Given the description of an element on the screen output the (x, y) to click on. 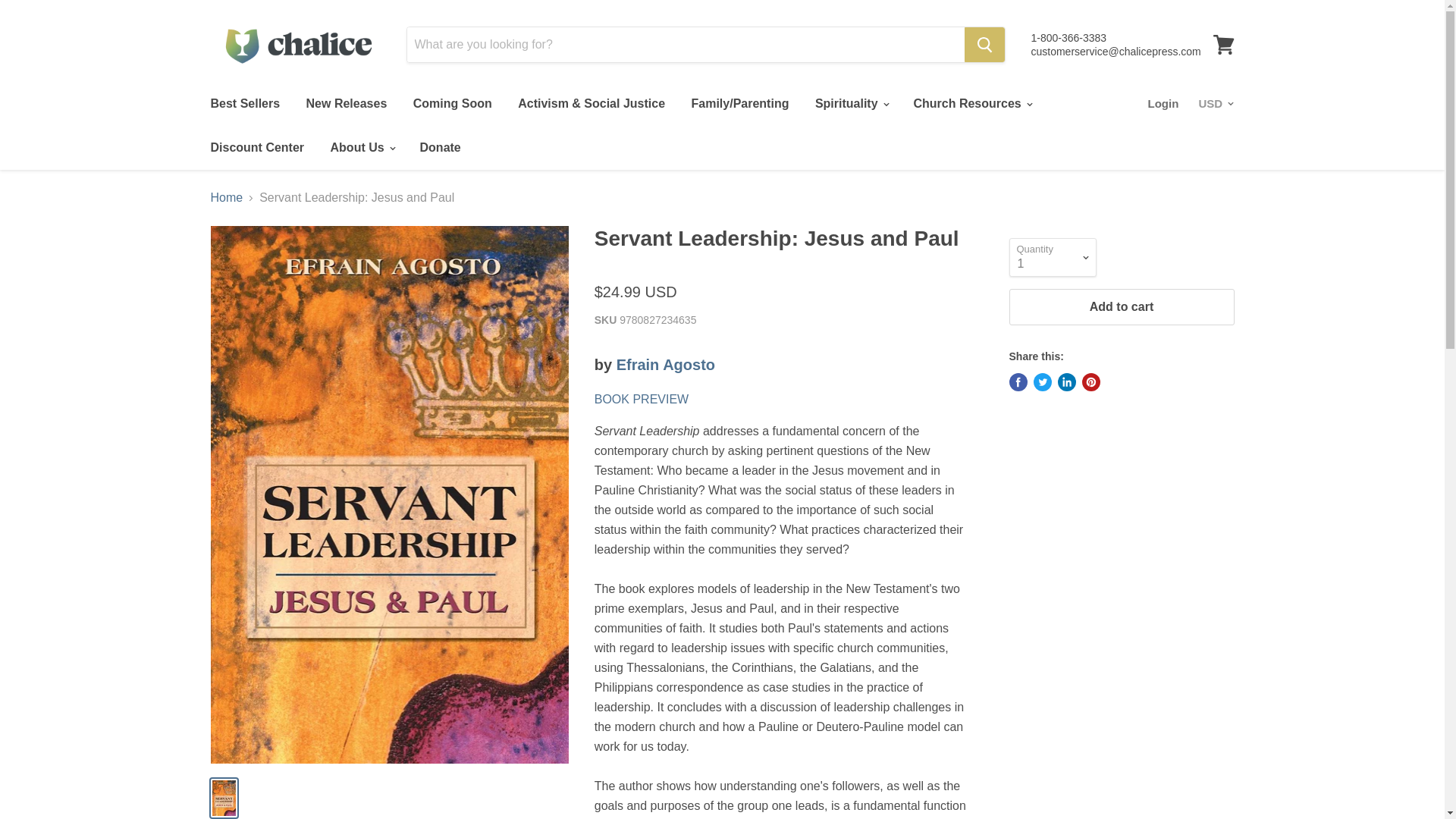
New Releases (346, 103)
Spirituality (850, 103)
View cart (1223, 44)
Church Resources (971, 103)
Coming Soon (452, 103)
Best Sellers (244, 103)
